Given the description of an element on the screen output the (x, y) to click on. 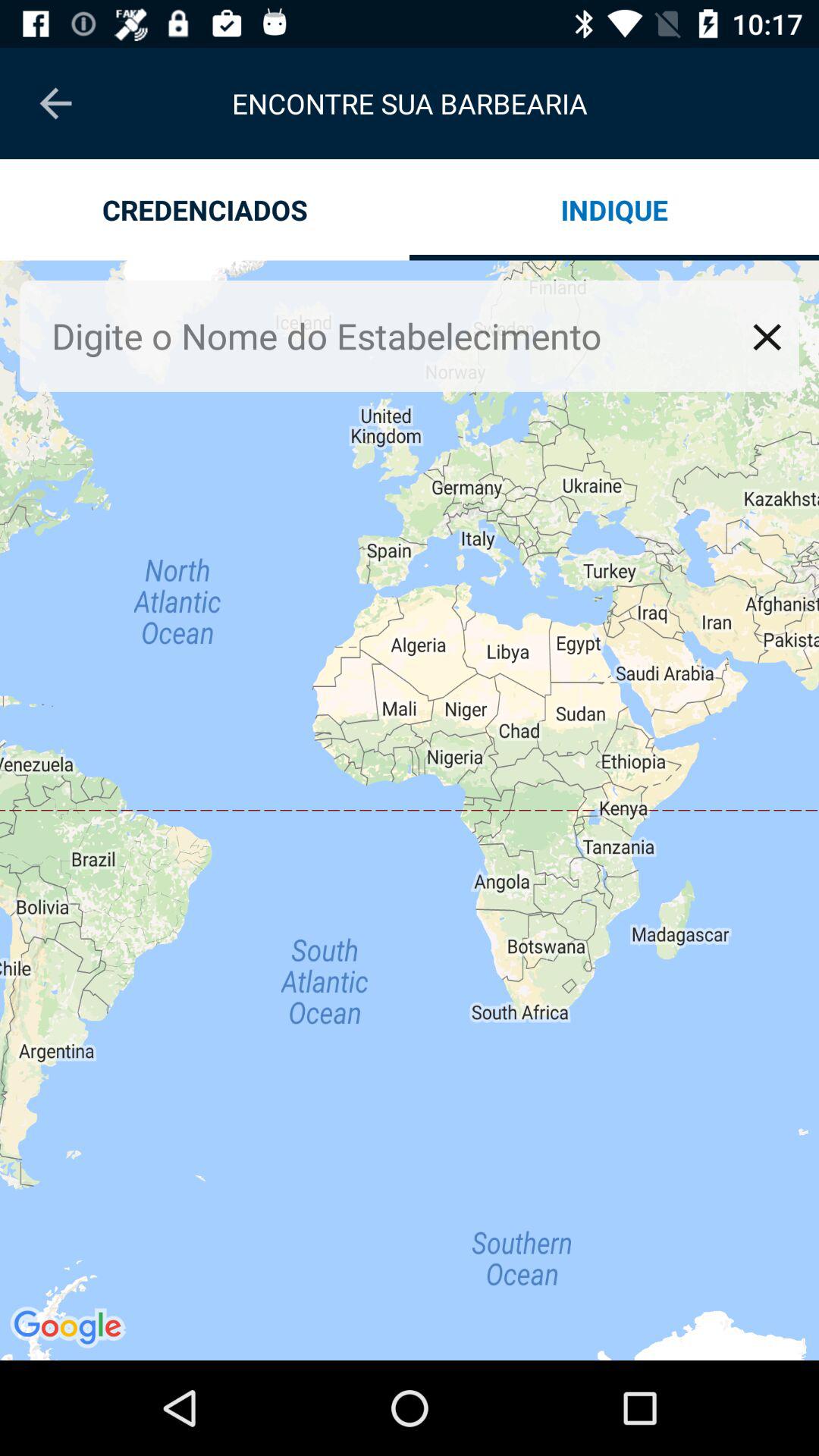
swipe until indique icon (614, 209)
